Given the description of an element on the screen output the (x, y) to click on. 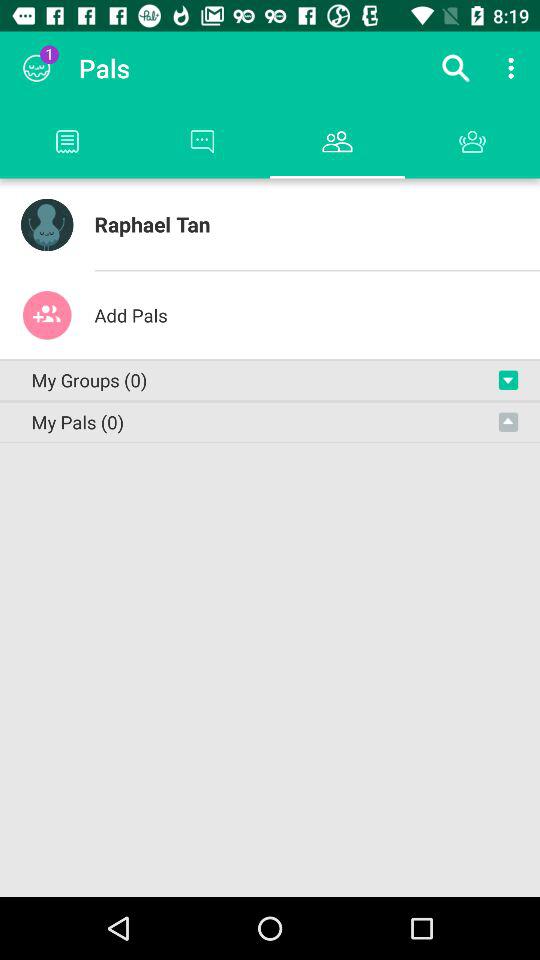
turn on the item next to the pals icon (36, 68)
